Given the description of an element on the screen output the (x, y) to click on. 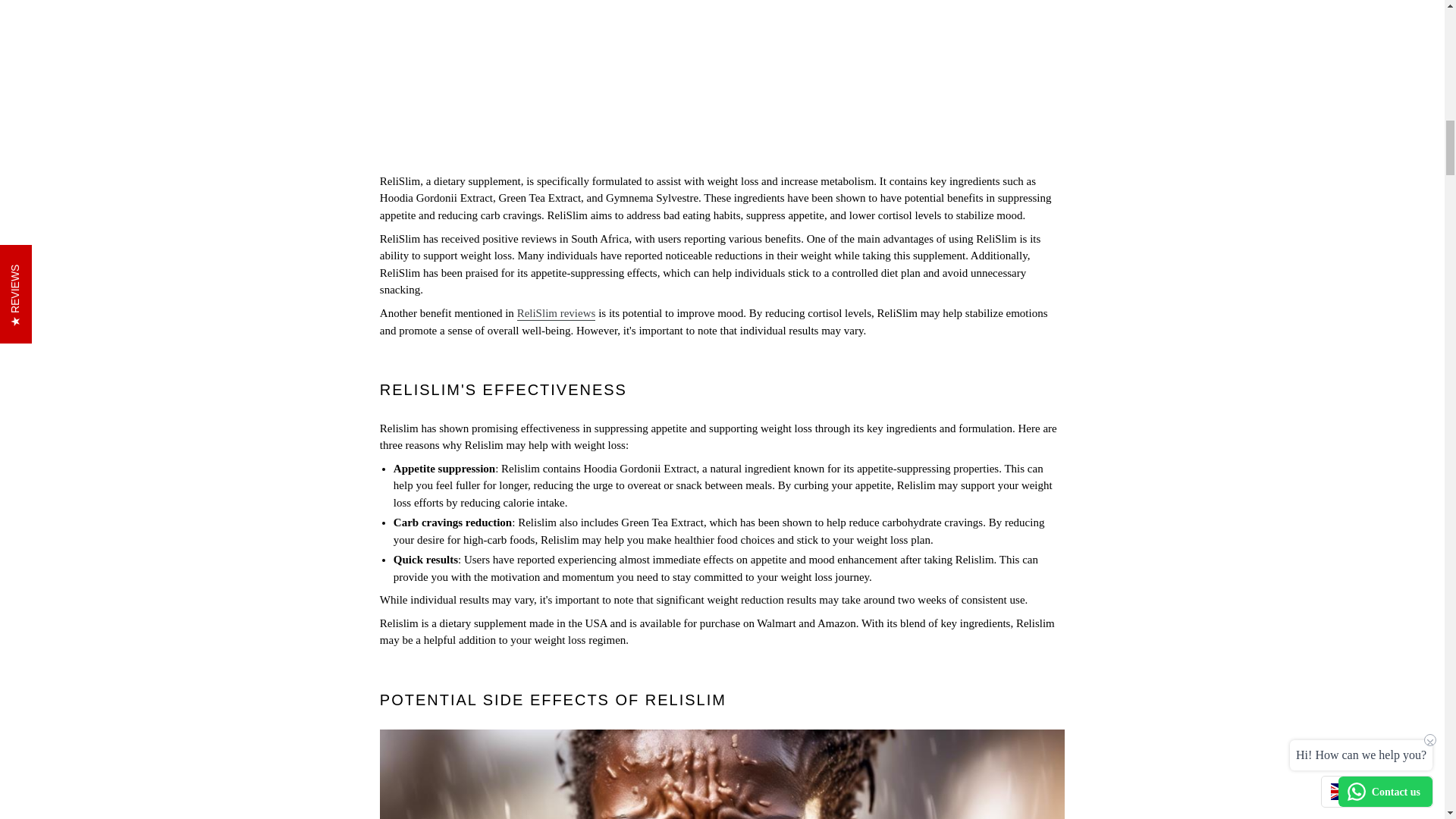
YouTube video player (722, 79)
